Given the description of an element on the screen output the (x, y) to click on. 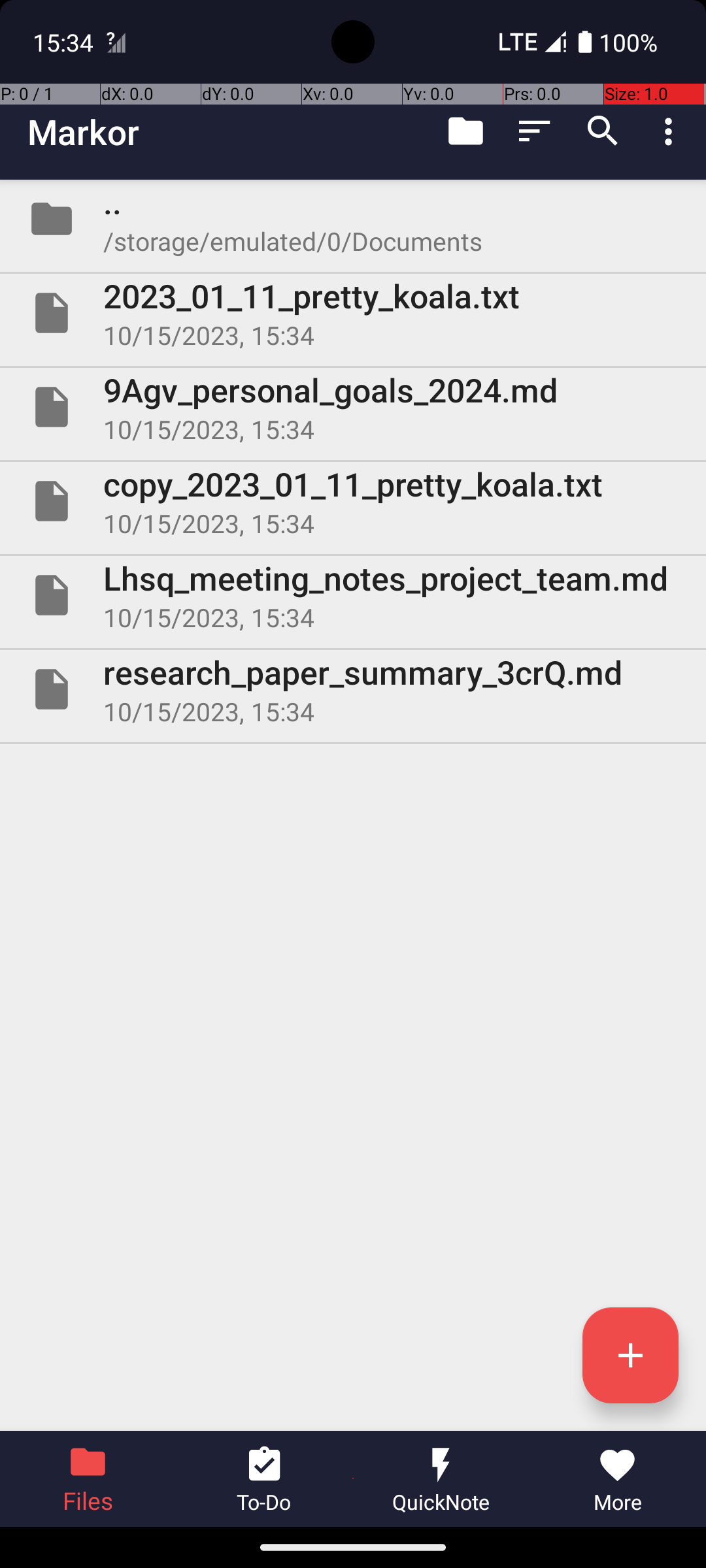
File 2023_01_11_pretty_koala.txt  Element type: android.widget.LinearLayout (353, 312)
File 9Agv_personal_goals_2024.md  Element type: android.widget.LinearLayout (353, 406)
File copy_2023_01_11_pretty_koala.txt  Element type: android.widget.LinearLayout (353, 500)
File Lhsq_meeting_notes_project_team.md  Element type: android.widget.LinearLayout (353, 594)
File research_paper_summary_3crQ.md  Element type: android.widget.LinearLayout (353, 689)
